Given the description of an element on the screen output the (x, y) to click on. 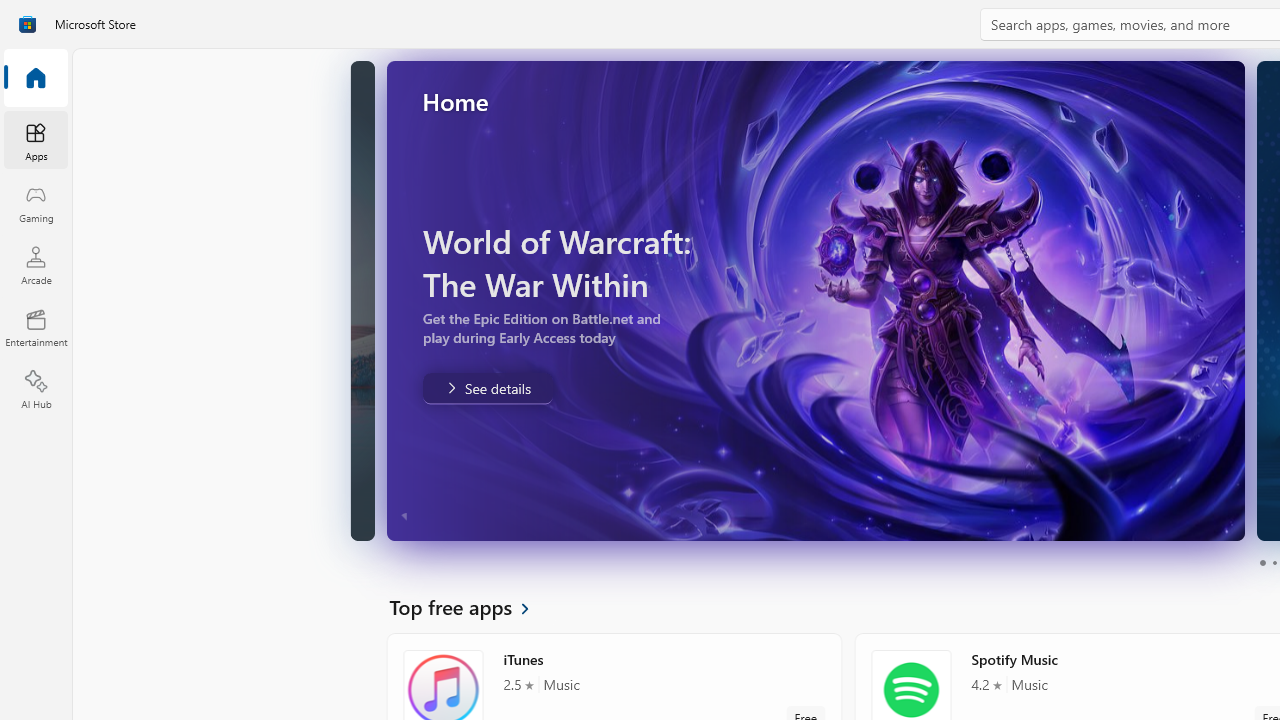
AI Hub (35, 390)
Page 1 (1261, 562)
Apps (35, 141)
See all  Top free apps (471, 606)
Page 2 (1274, 562)
Arcade (35, 265)
Class: Image (27, 24)
Home (35, 79)
AutomationID: Image (732, 300)
Entertainment (35, 327)
Gaming (35, 203)
